Given the description of an element on the screen output the (x, y) to click on. 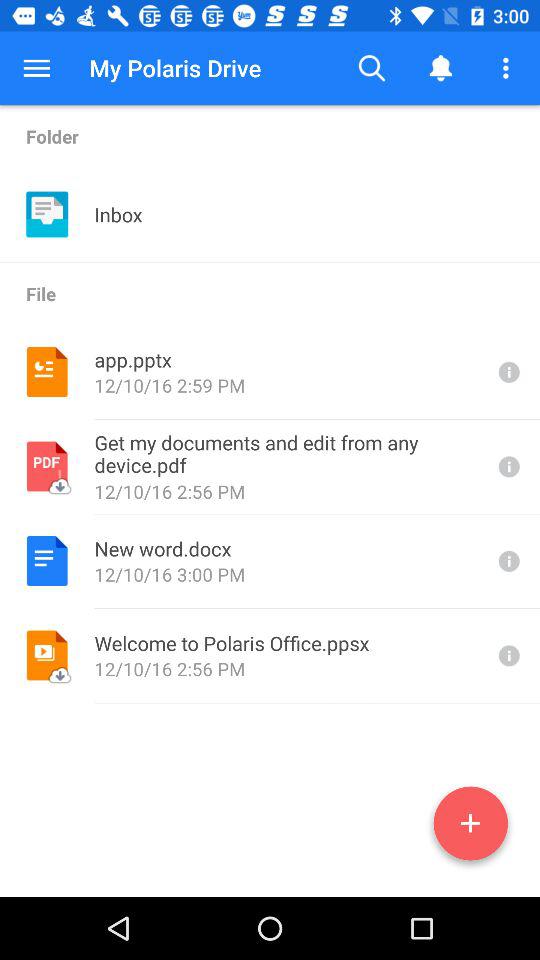
view more information about the file (507, 655)
